Given the description of an element on the screen output the (x, y) to click on. 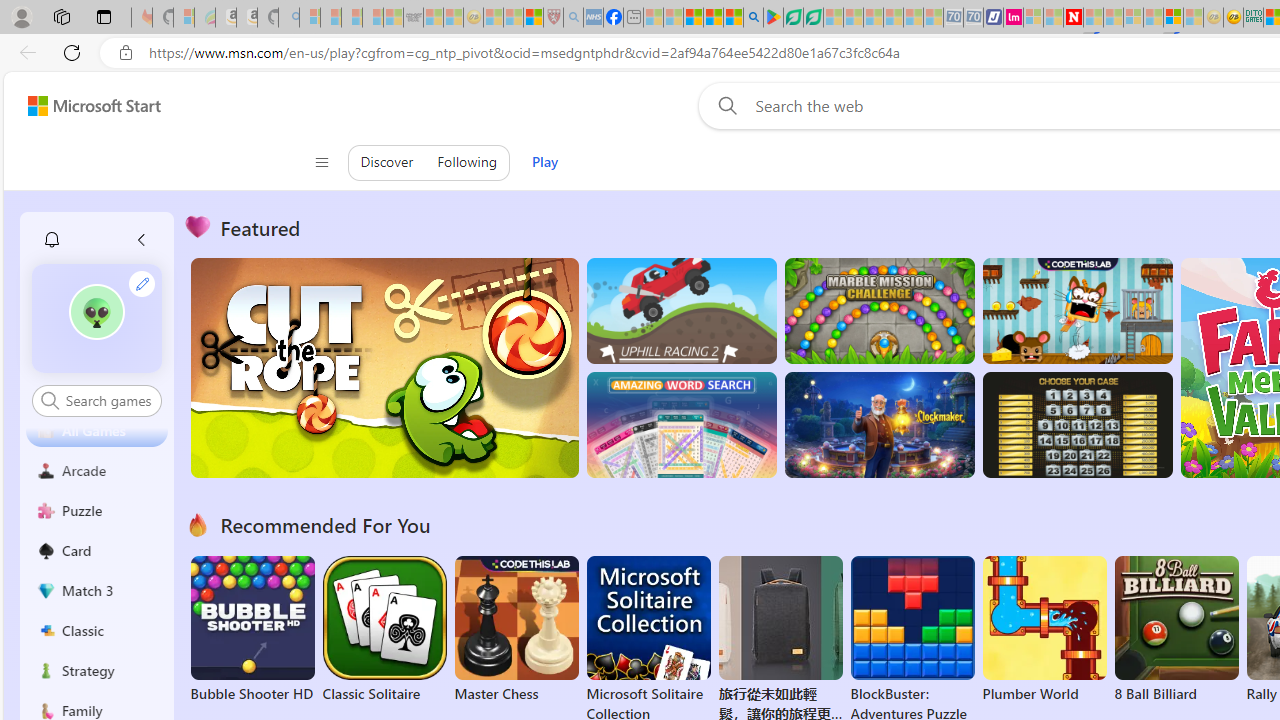
Pets - MSN (713, 17)
Class: control icon-only (320, 162)
Plumber World (1044, 629)
Bubble Shooter HD (251, 629)
""'s avatar (97, 318)
""'s avatar (96, 312)
Cut the Rope (383, 367)
Deal or No Deal (1076, 425)
